Given the description of an element on the screen output the (x, y) to click on. 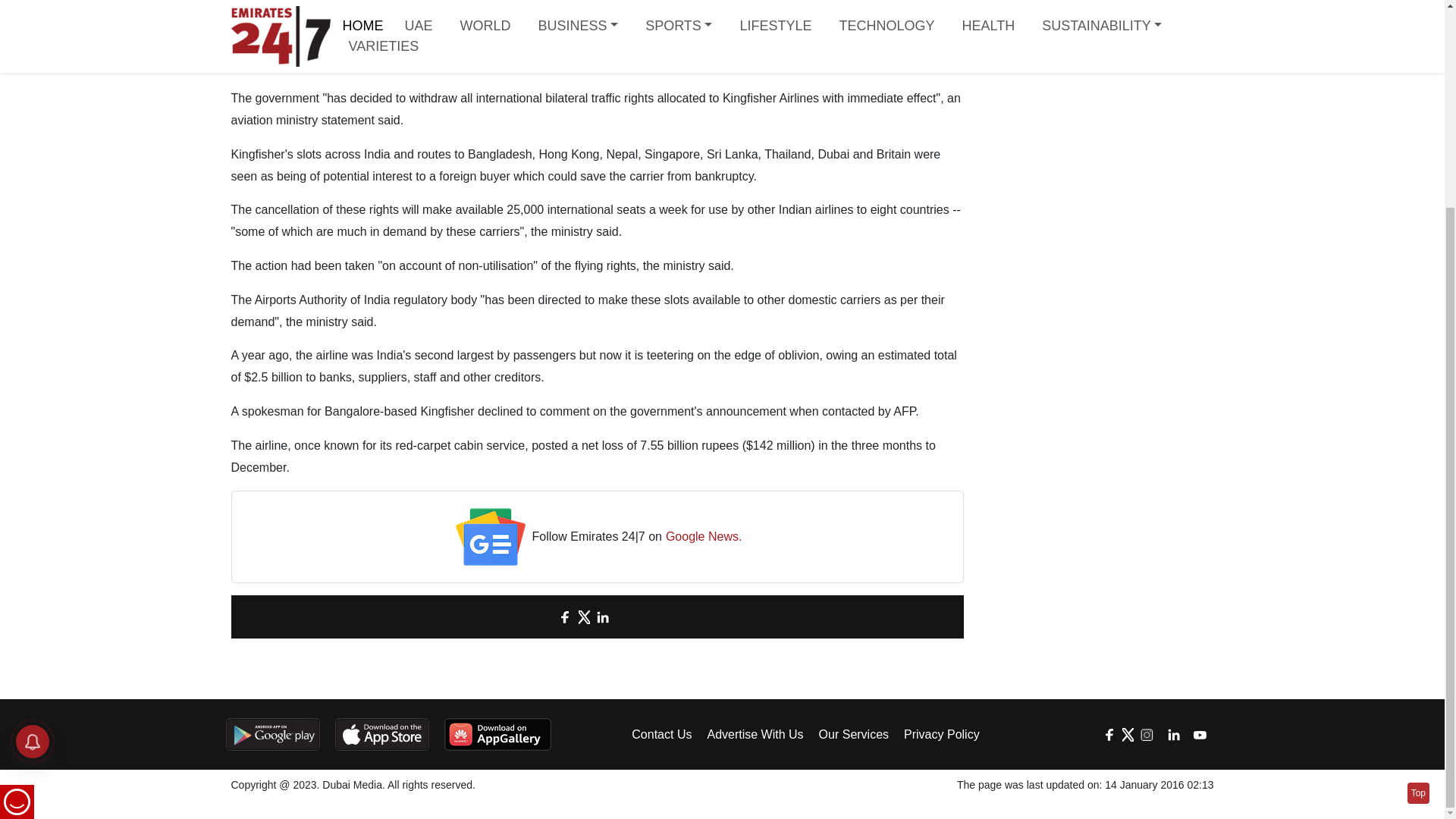
Google News. (703, 536)
3rd party ad content (1097, 22)
Go to top (1418, 525)
